Given the description of an element on the screen output the (x, y) to click on. 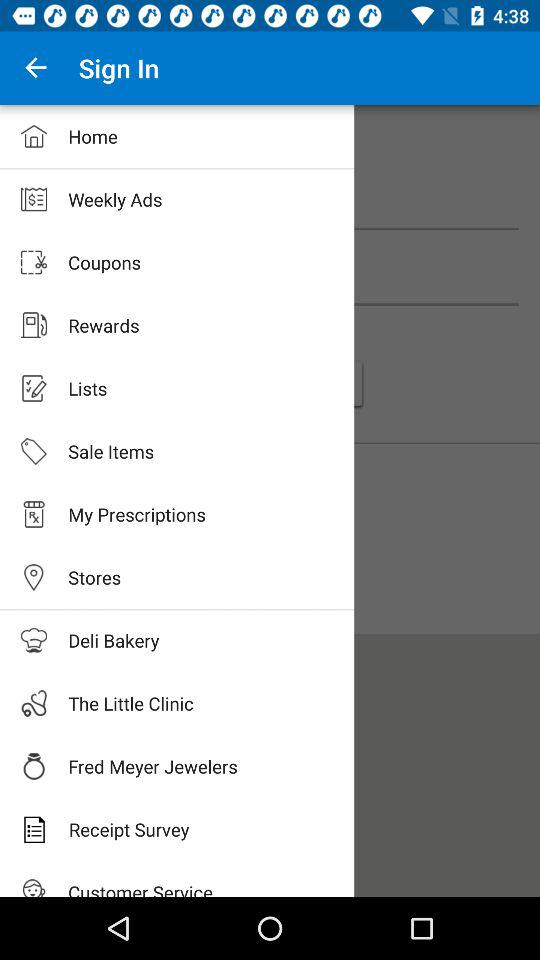
select stores (112, 575)
select coupons (269, 285)
select weekly ads (269, 210)
tap on the rewards icon (33, 325)
select the fred meyer jewelers icon (33, 765)
